Given the description of an element on the screen output the (x, y) to click on. 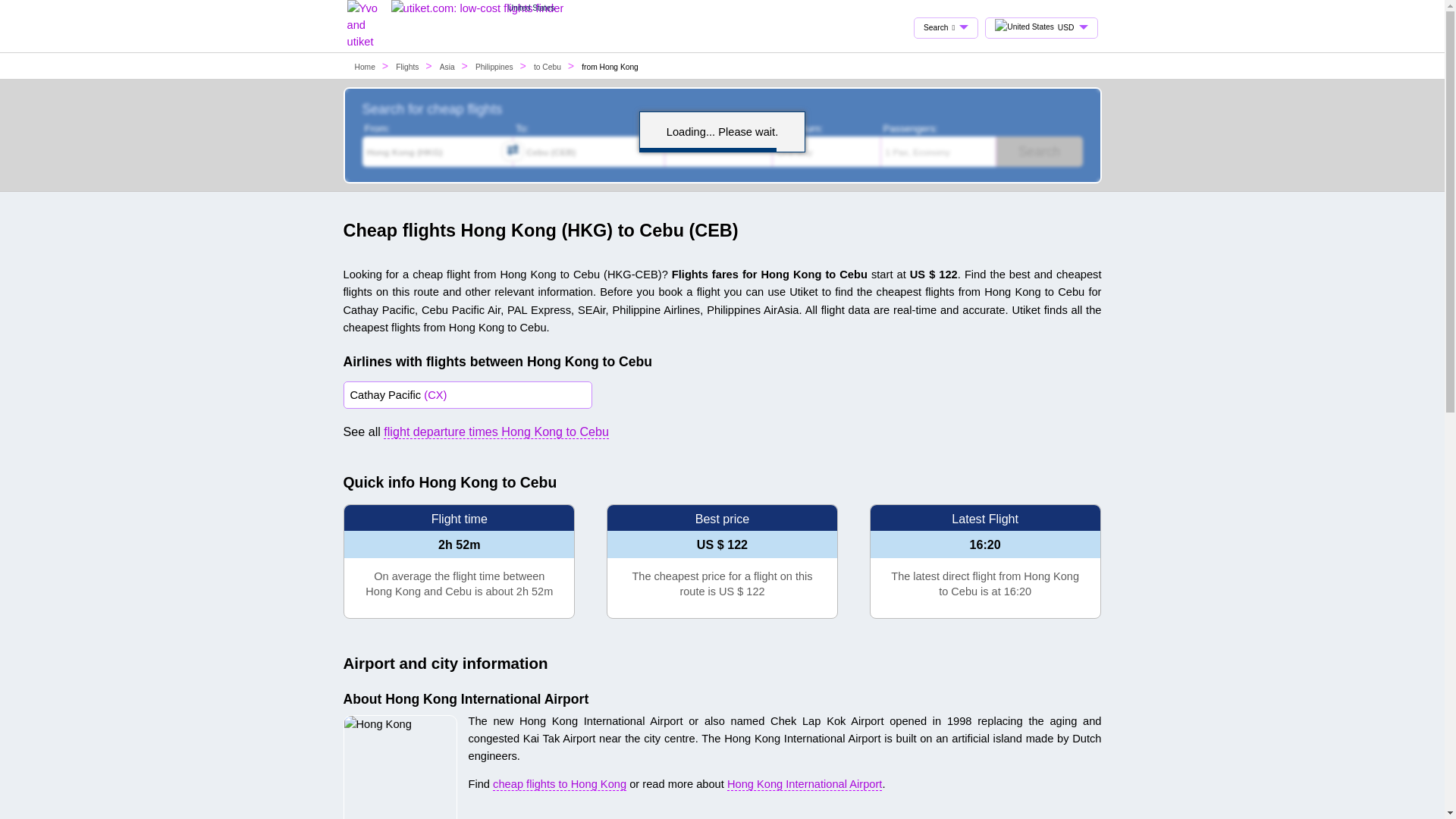
Hong Kong International Airport (804, 784)
flight departure times Hong Kong to Cebu (496, 431)
return (780, 126)
United States (477, 8)
1 Pax, Economy (937, 151)
Search (1039, 151)
One-way (826, 151)
Home (365, 67)
cheap flights to Hong Kong (559, 784)
Asia (446, 67)
